Given the description of an element on the screen output the (x, y) to click on. 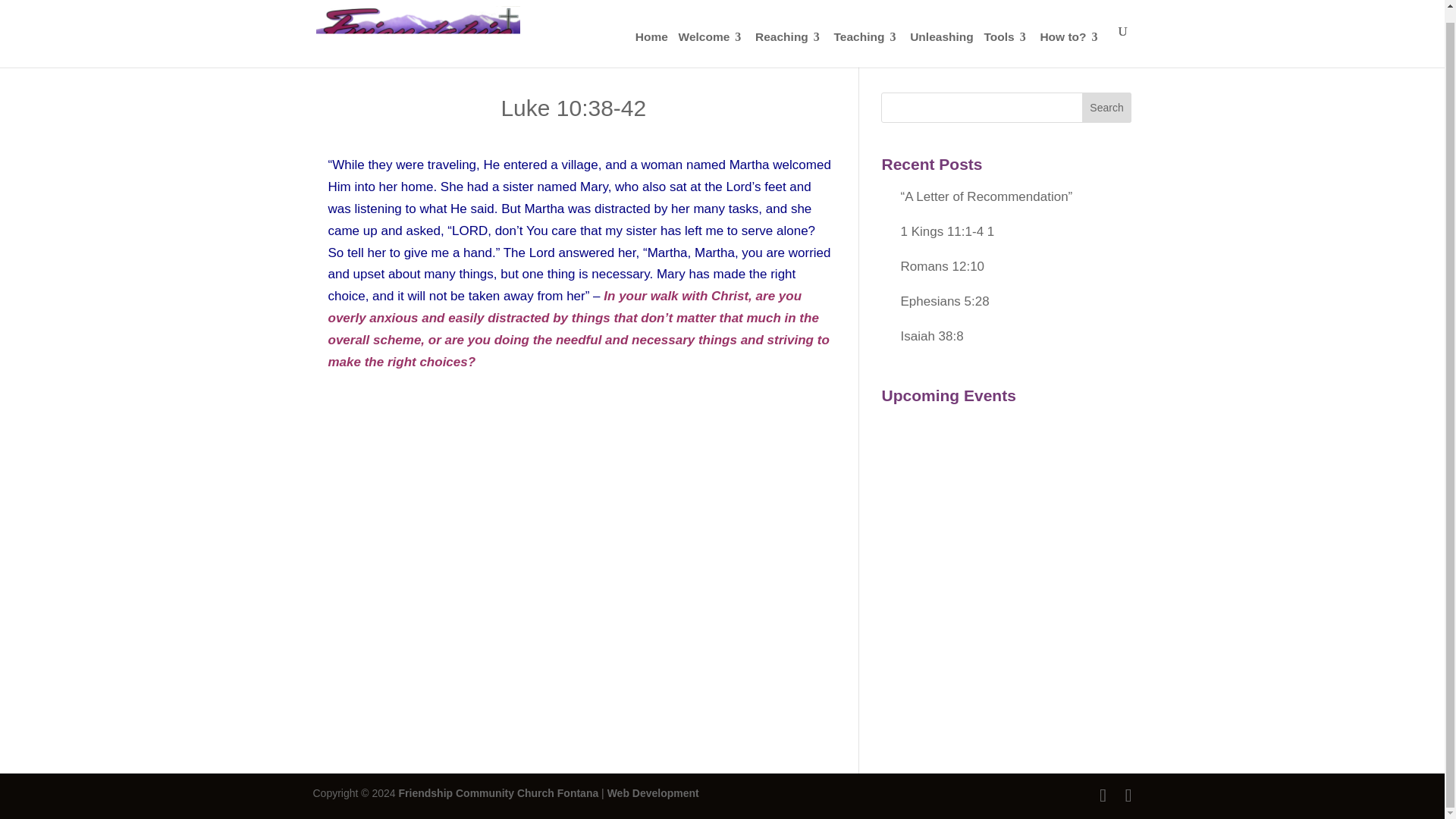
Tools (1006, 37)
Search (1106, 107)
Unleashing (942, 37)
Reaching (789, 37)
Web Biz Strategy (652, 793)
Welcome (711, 37)
Teaching (866, 37)
